Given the description of an element on the screen output the (x, y) to click on. 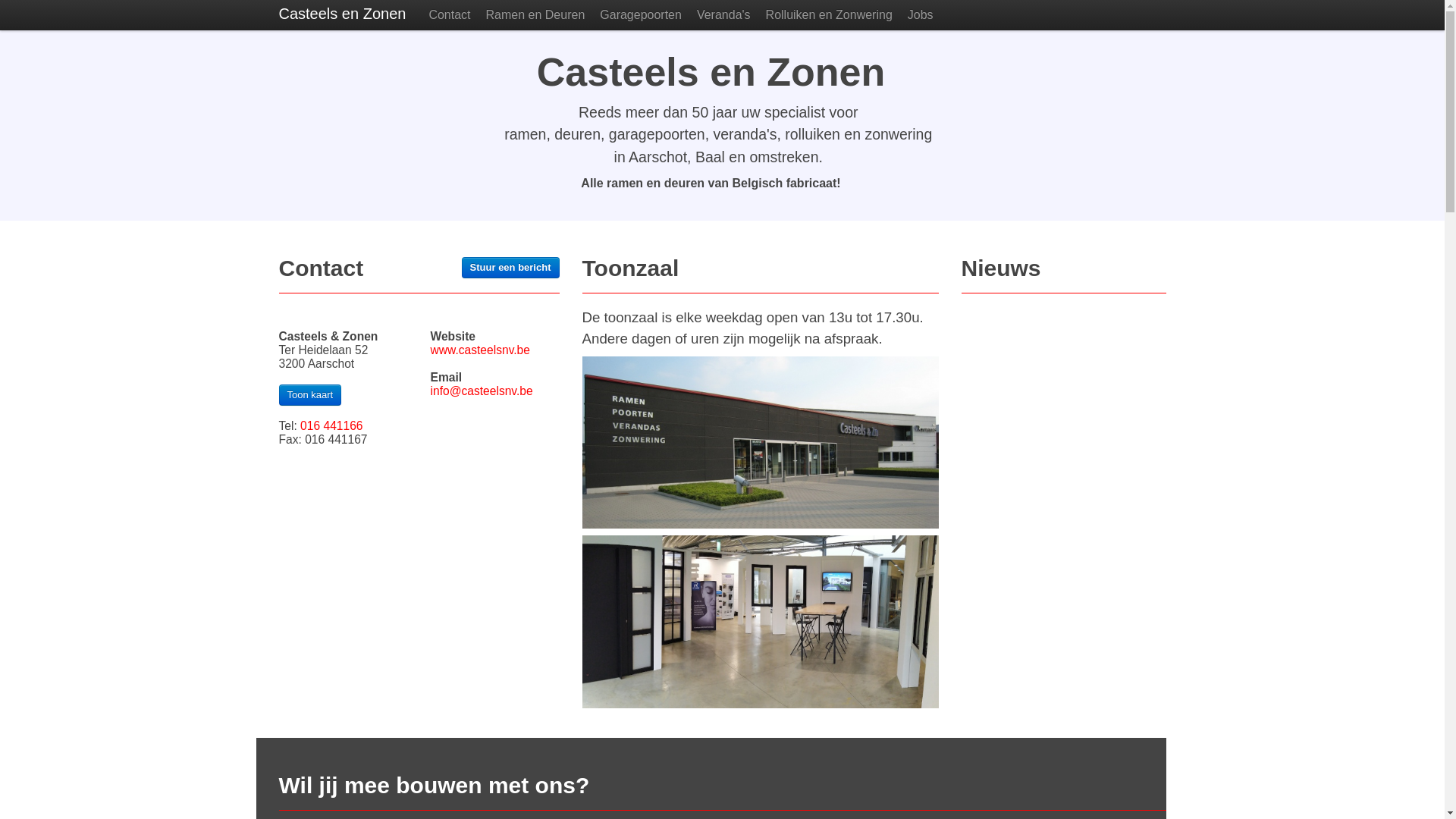
Contact Element type: text (448, 15)
Rolluiken en Zonwering Element type: text (829, 15)
www.casteelsnv.be Element type: text (480, 349)
info@casteelsnv.be Element type: text (481, 390)
Casteels en Zonen Element type: text (342, 15)
Jobs Element type: text (920, 15)
Toon kaart Element type: text (310, 394)
Ramen en Deuren Element type: text (535, 15)
016 441166 Element type: text (331, 425)
Garagepoorten Element type: text (640, 15)
Stuur een bericht Element type: text (510, 267)
De binnenzijde van de toonzaal in Aarschot Element type: hover (760, 621)
Veranda's Element type: text (723, 15)
De toonzaal en werkplaats in Aarschot Element type: hover (760, 442)
